Given the description of an element on the screen output the (x, y) to click on. 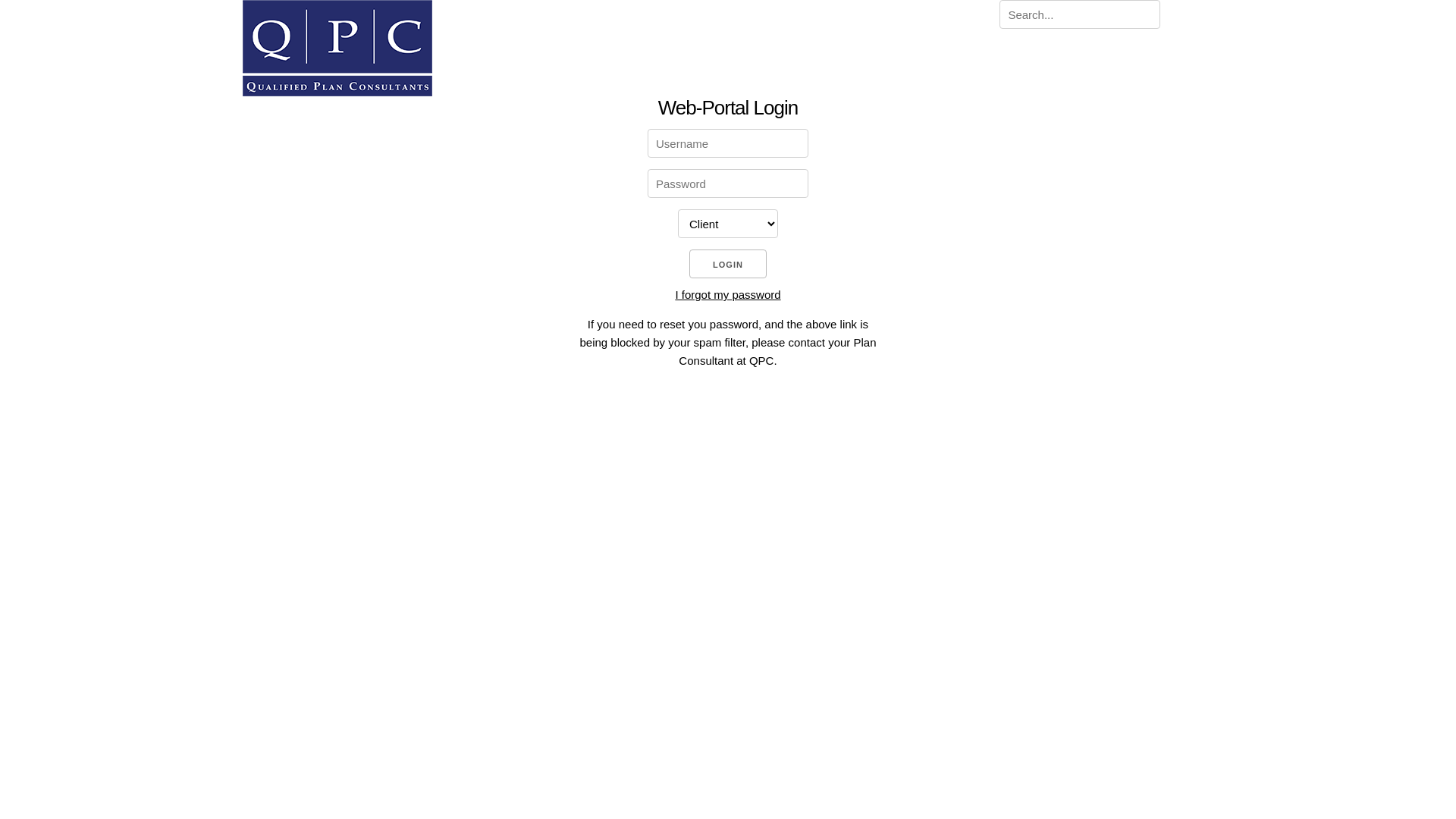
I forgot my password Element type: text (727, 294)
LOGIN Element type: text (727, 263)
